Given the description of an element on the screen output the (x, y) to click on. 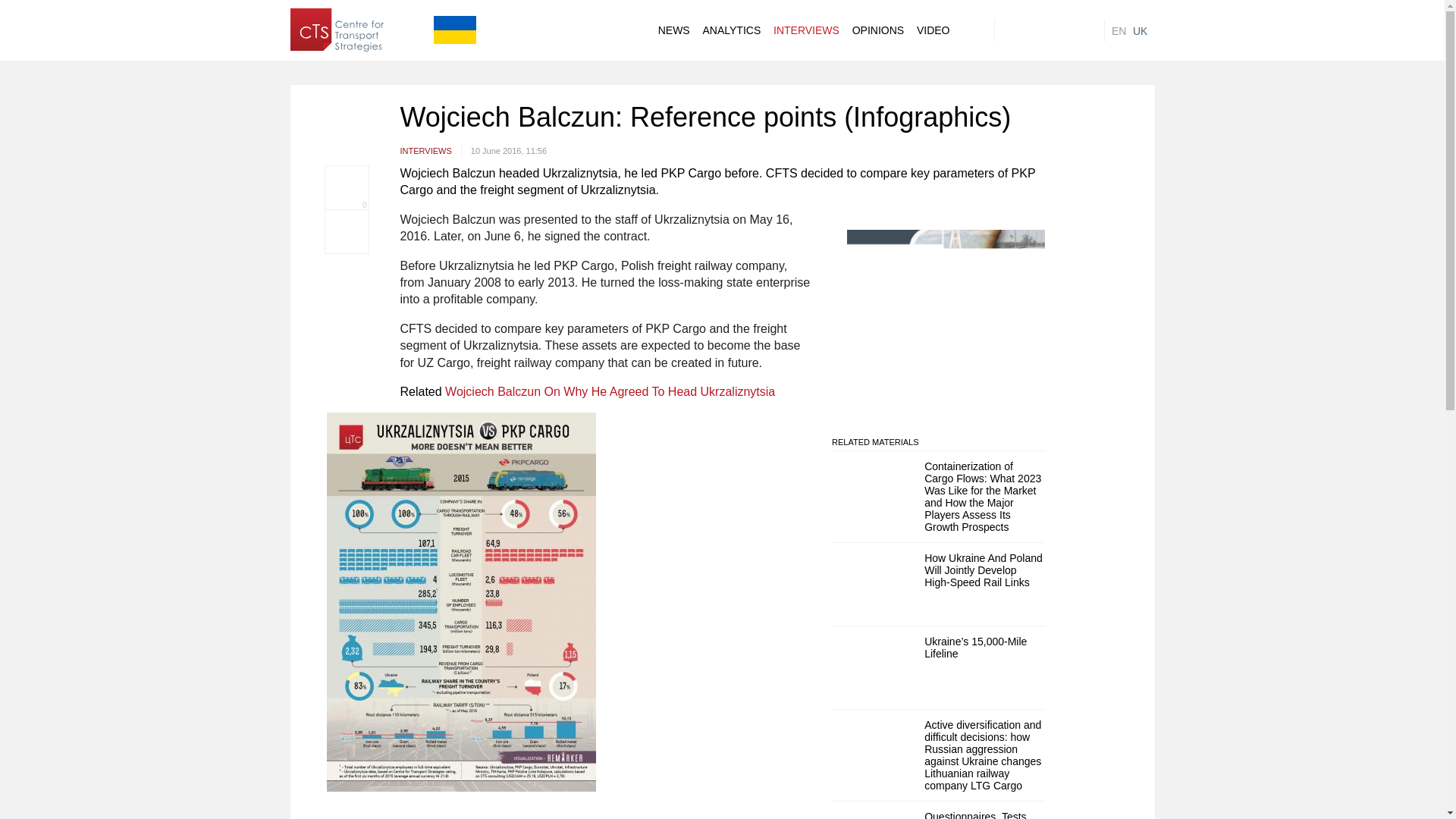
VIDEO (933, 30)
INTERVIEWS (430, 150)
OPINIONS (877, 30)
INTERVIEWS (806, 30)
Instagram (1088, 29)
Facebook (1005, 29)
Channel in Telegram (1060, 29)
NEWS (674, 30)
Twitter (1033, 29)
